Given the description of an element on the screen output the (x, y) to click on. 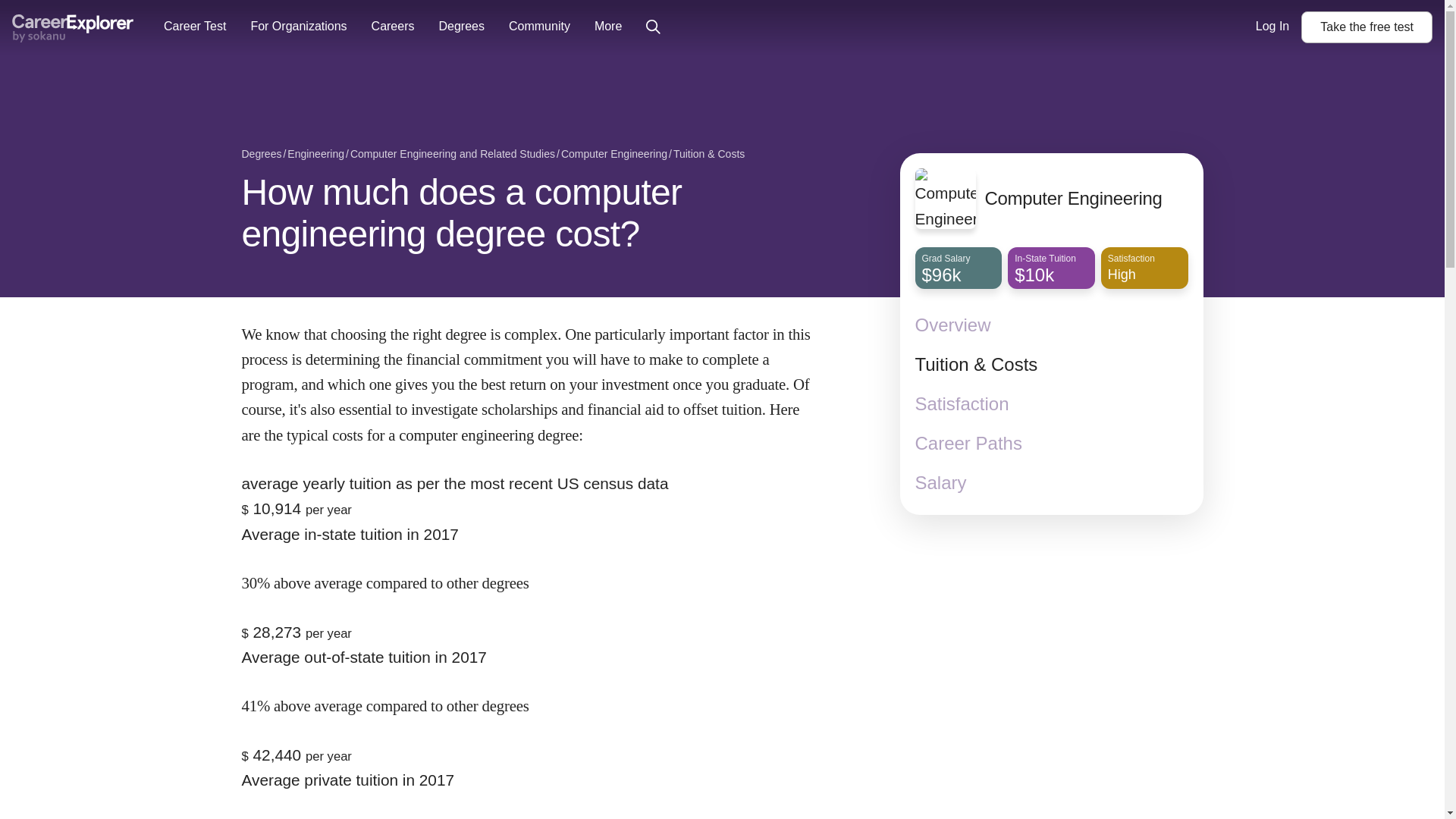
For Organizations (298, 27)
Satisfaction (1051, 403)
Career Paths (1051, 443)
Community (539, 27)
Computer Engineering and Related Studies (452, 154)
CareerExplorer (1366, 26)
Salary (72, 27)
Career Test (1051, 482)
Degrees (194, 27)
